Given the description of an element on the screen output the (x, y) to click on. 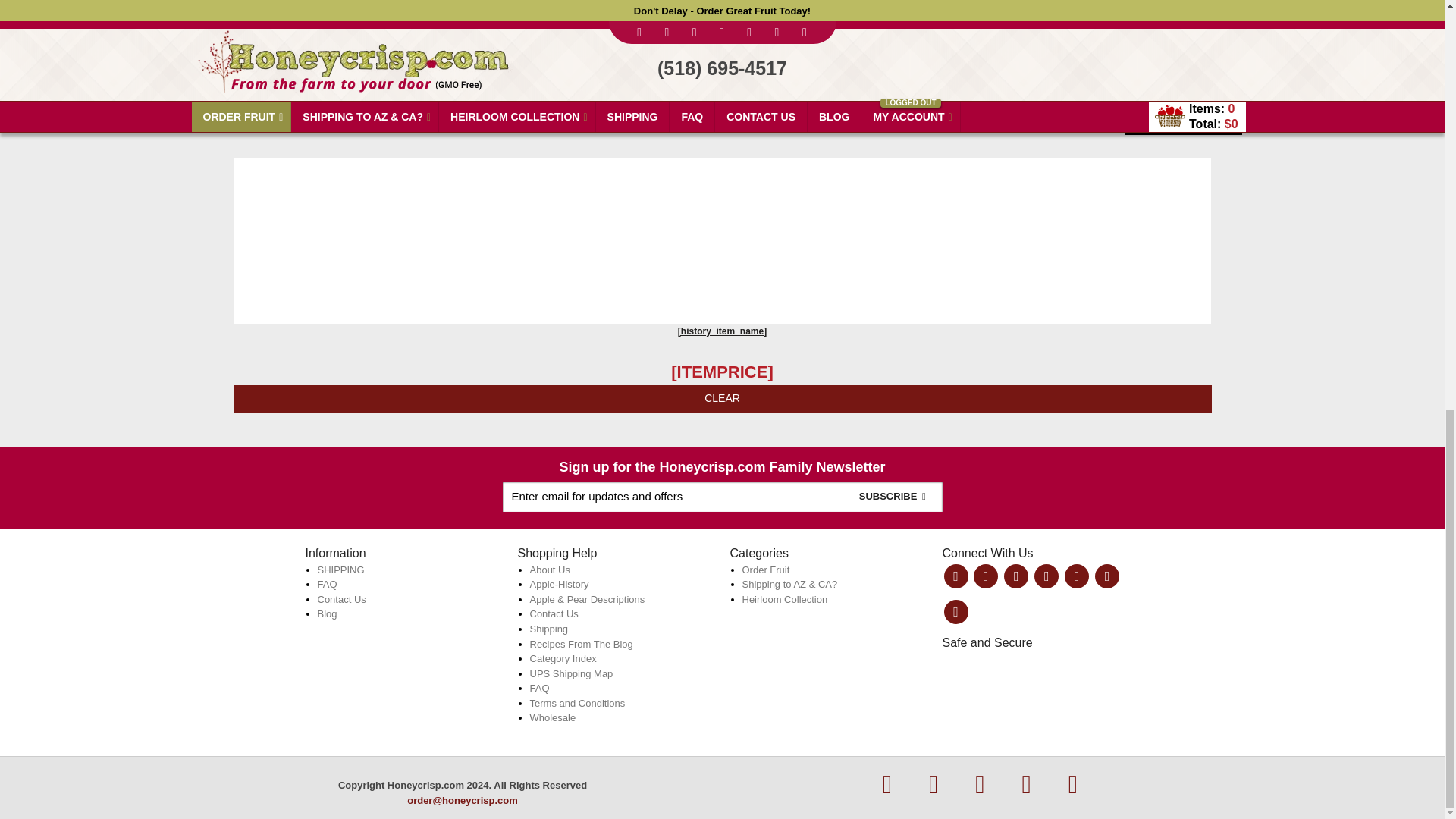
Enter email for updates and offers (722, 496)
